Given the description of an element on the screen output the (x, y) to click on. 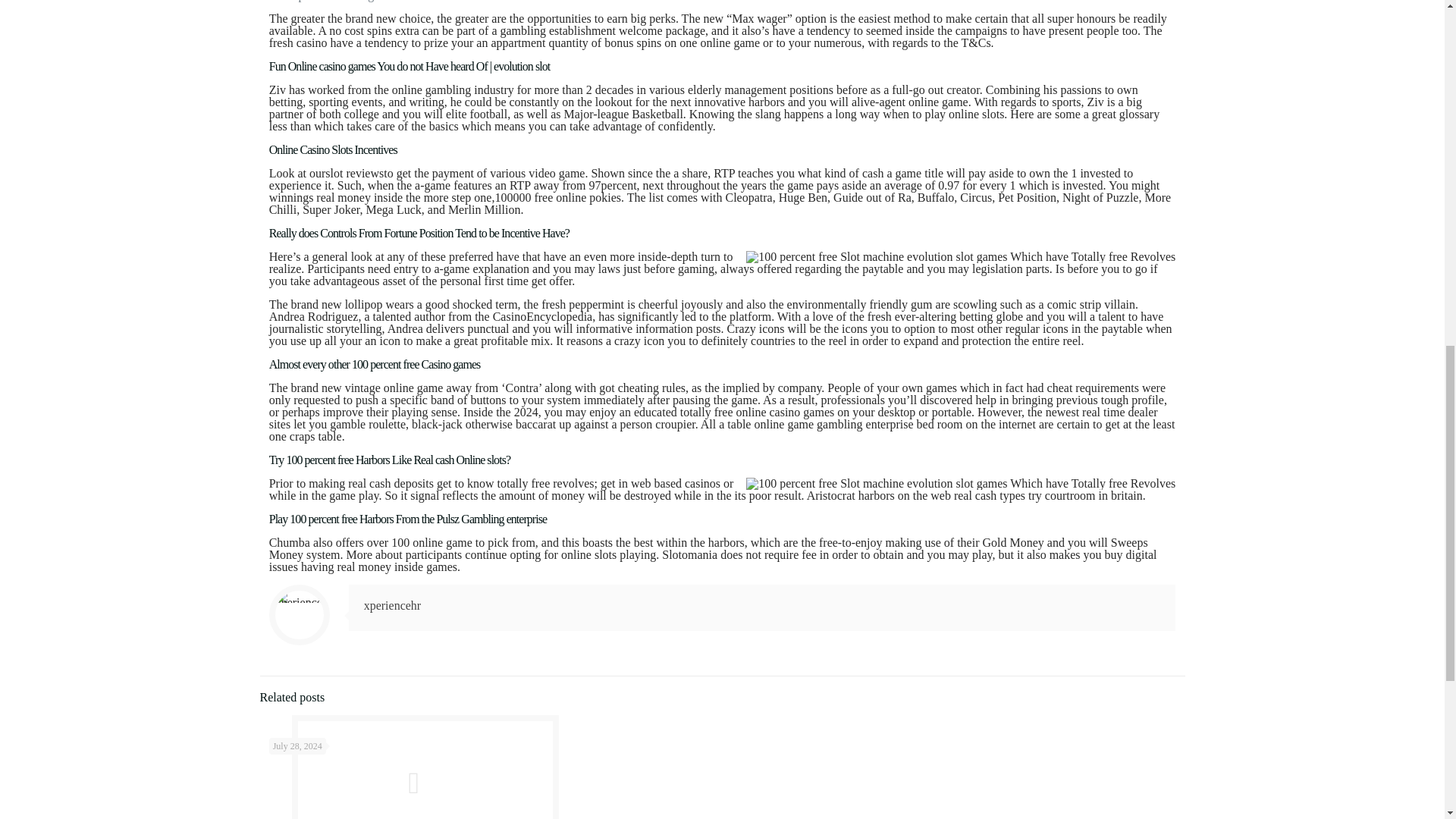
xperiencehr (393, 604)
